Given the description of an element on the screen output the (x, y) to click on. 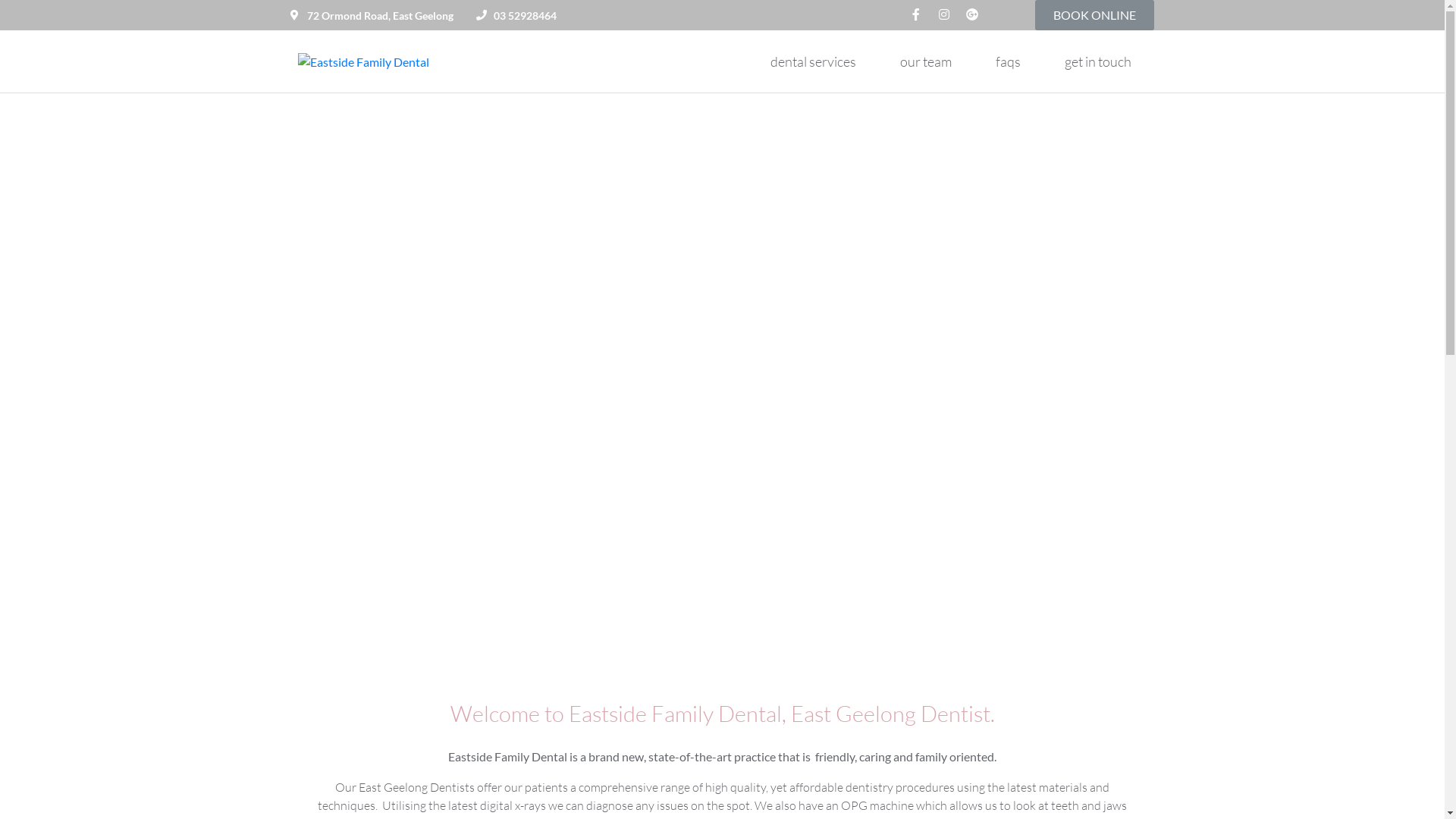
BOOK ONLINE Element type: text (1094, 15)
get in touch Element type: text (1097, 61)
03 52928464 Element type: text (516, 15)
72 Ormond Road, East Geelong Element type: text (371, 15)
faqs Element type: text (1007, 61)
our team Element type: text (925, 61)
dental services Element type: text (813, 61)
